Given the description of an element on the screen output the (x, y) to click on. 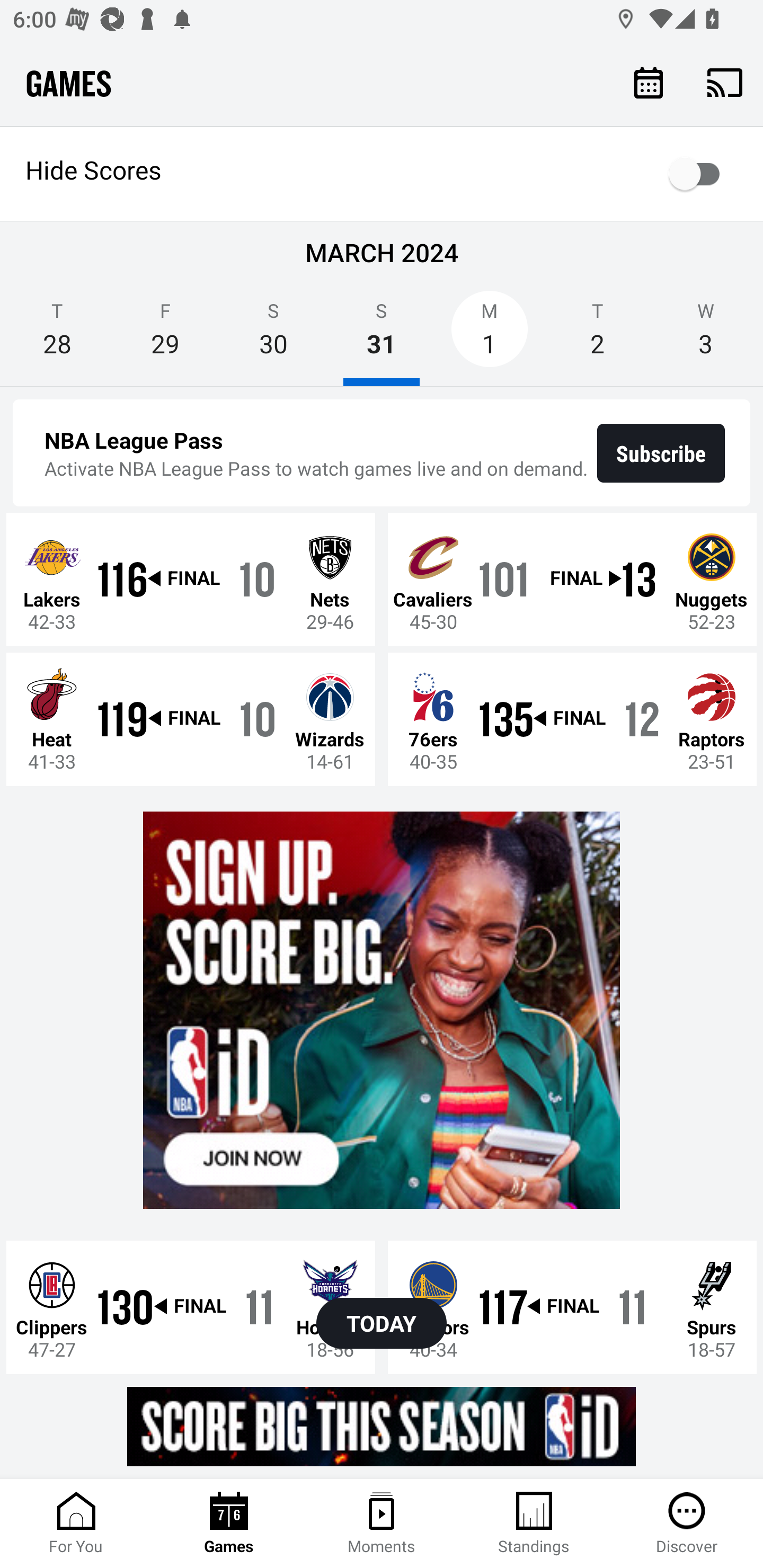
Cast. Disconnected (724, 82)
Calendar (648, 81)
Hide Scores (381, 174)
T 28 (57, 334)
F 29 (165, 334)
S 30 (273, 334)
S 31 (381, 334)
M 1 (489, 334)
T 2 (597, 334)
W 3 (705, 334)
Subscribe (660, 452)
Lakers 42-33 116 FINAL 104 Nets 29-46 (190, 579)
Cavaliers 45-30 101 FINAL 130 Nuggets 52-23 (571, 579)
Heat 41-33 119 FINAL 107 Wizards 14-61 (190, 718)
76ers 40-35 135 FINAL 120 Raptors 23-51 (571, 718)
g5nqqygr7owph (381, 1010)
Clippers 47-27 130 FINAL 118 Hornets 18-56 (190, 1306)
Warriors 40-34 117 FINAL 113 Spurs 18-57 (571, 1306)
TODAY (381, 1323)
g5nqqygr7owph (381, 1426)
For You (76, 1523)
Moments (381, 1523)
Standings (533, 1523)
Discover (686, 1523)
